Given the description of an element on the screen output the (x, y) to click on. 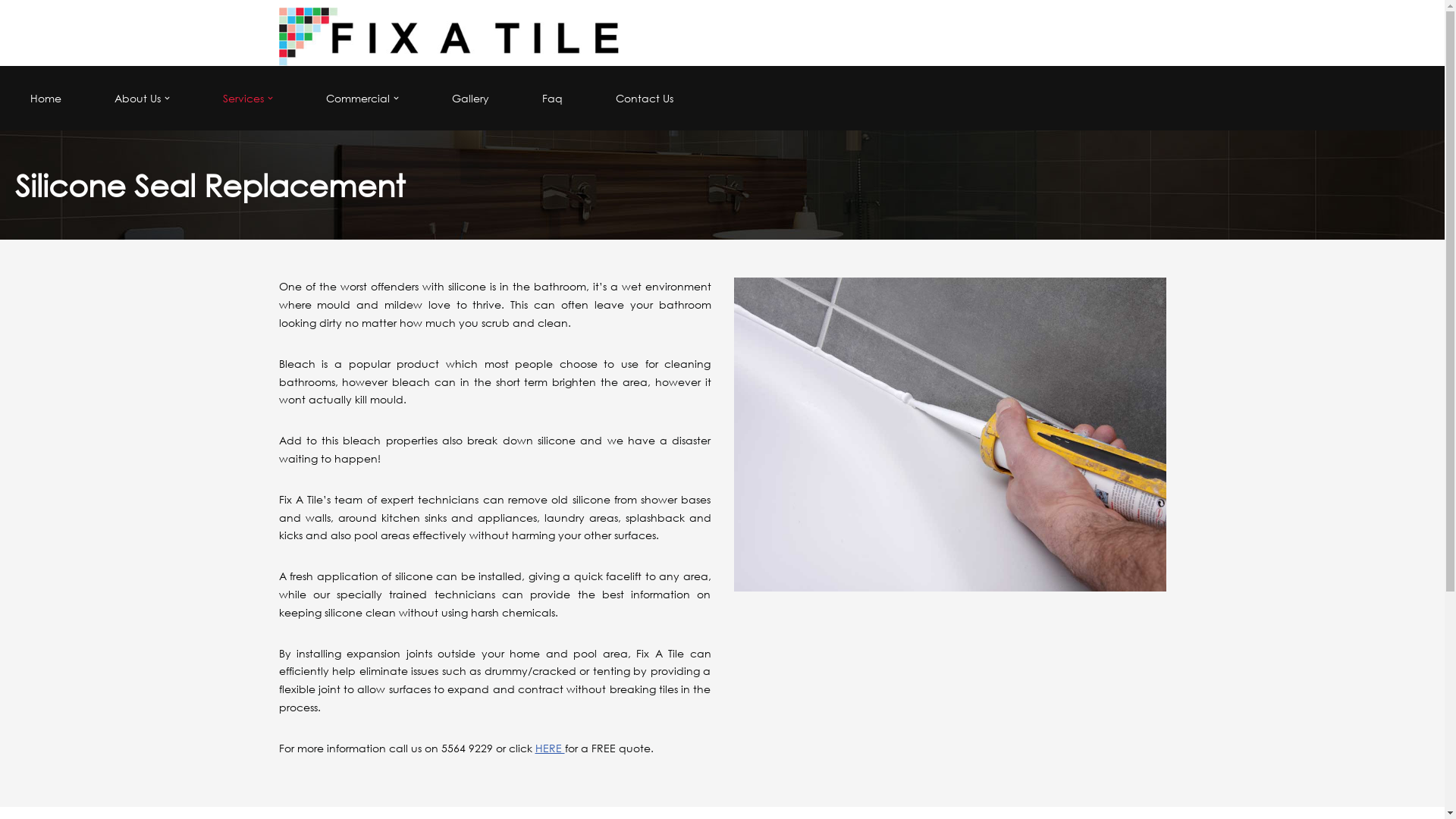
Home Element type: text (45, 97)
About Us Element type: text (137, 97)
Commercial Element type: text (357, 97)
HERE Element type: text (549, 747)
Services Element type: text (242, 97)
Skip to content Element type: text (11, 31)
Gallery Element type: text (470, 97)
Faq Element type: text (552, 97)
Contact Us Element type: text (644, 97)
